Given the description of an element on the screen output the (x, y) to click on. 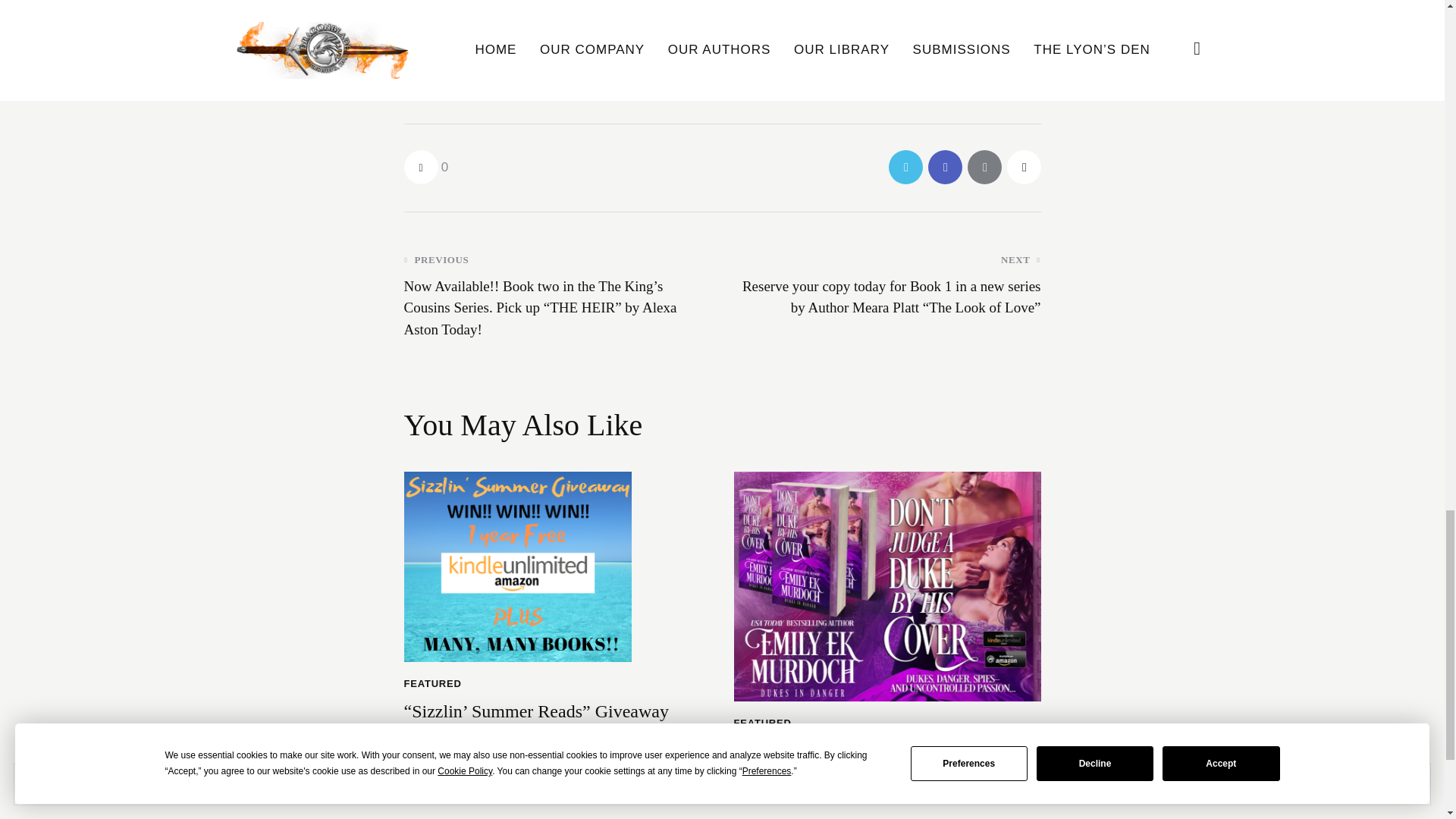
Like (425, 166)
Copy URL to clipboard (1024, 166)
